Given the description of an element on the screen output the (x, y) to click on. 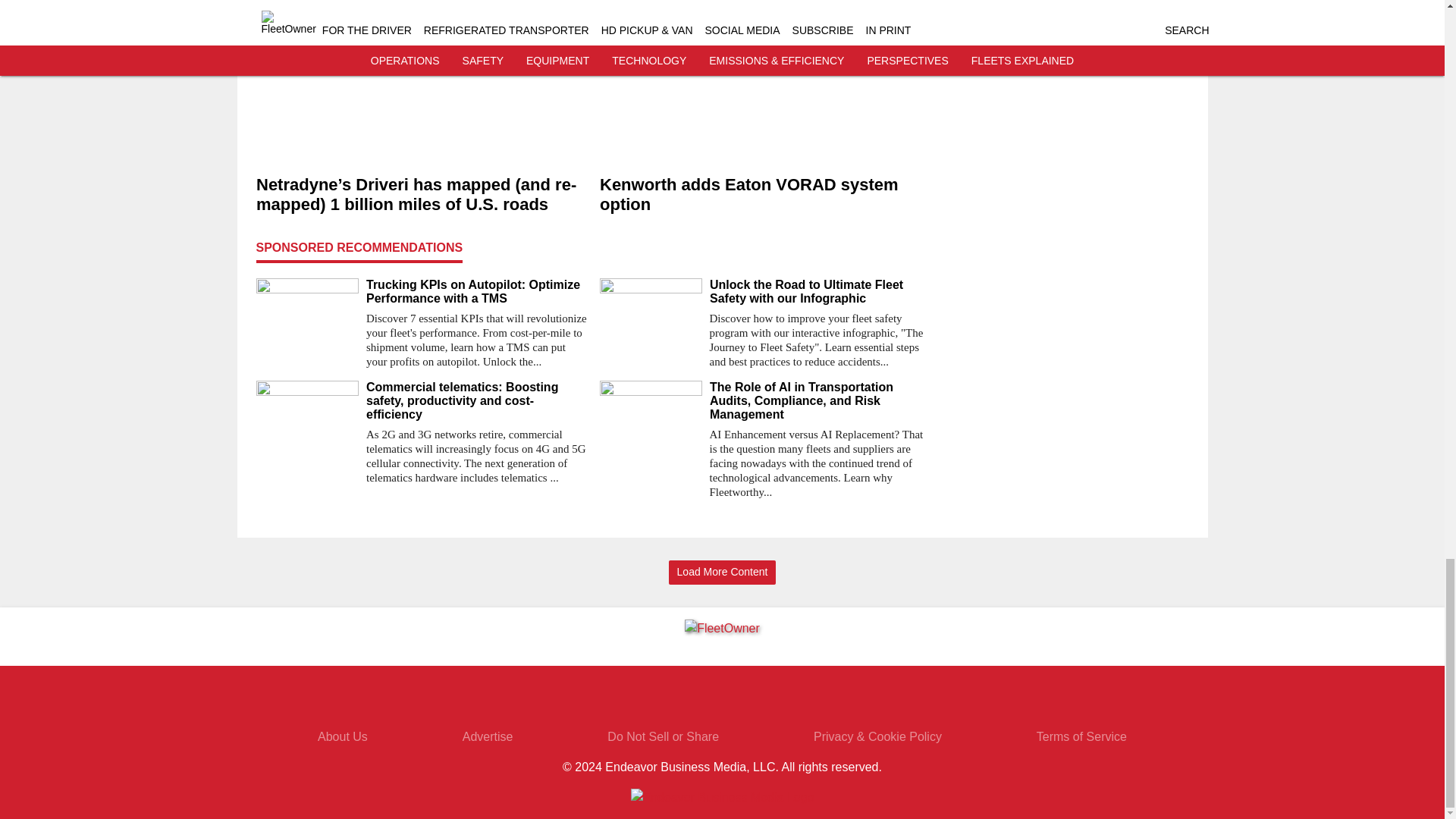
Trucking KPIs on Autopilot: Optimize Performance with a TMS (476, 291)
Kenworth adds Eaton VORAD system option (764, 195)
